Given the description of an element on the screen output the (x, y) to click on. 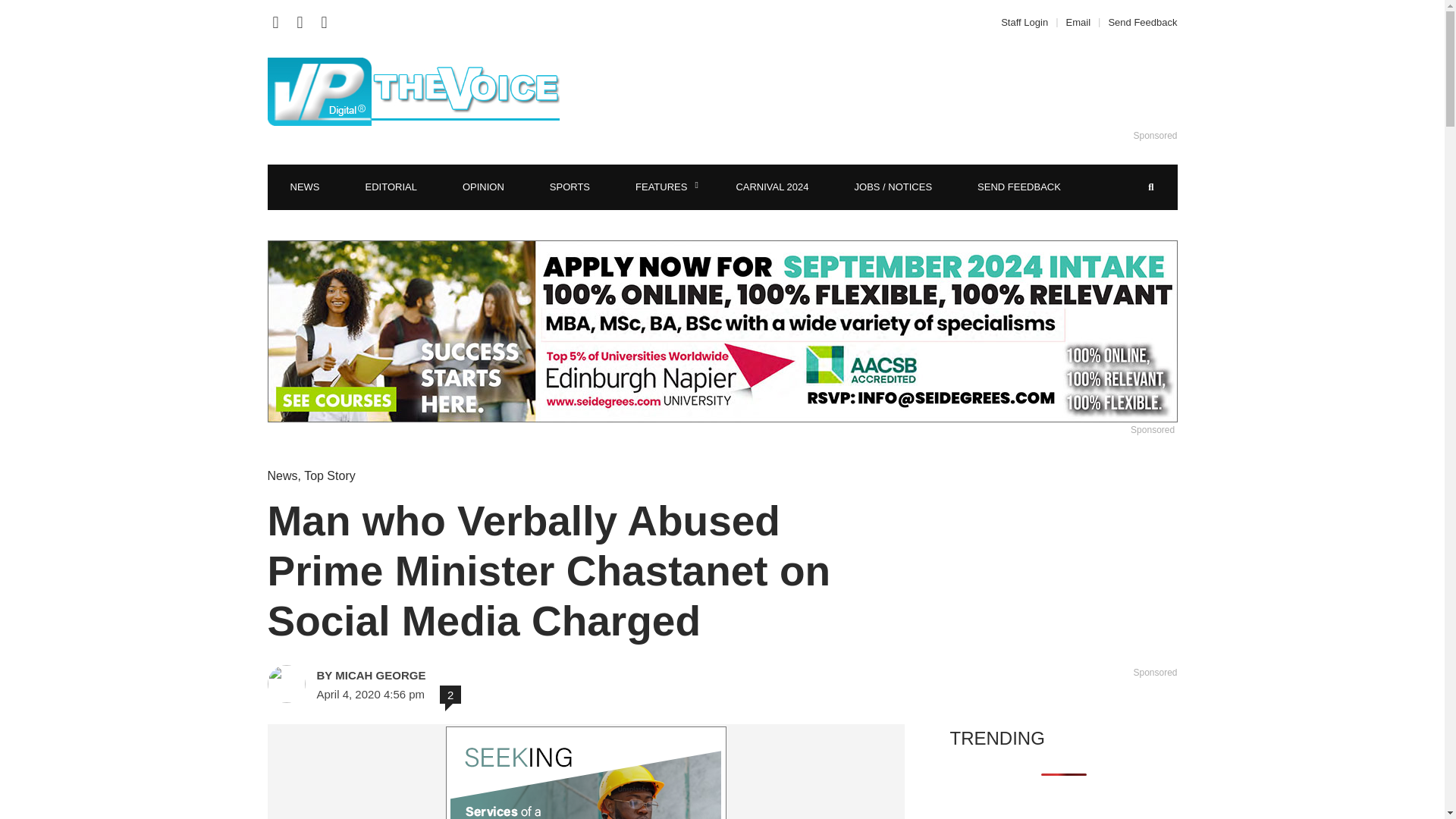
SEND FEEDBACK (1019, 186)
Top Story (329, 475)
News (281, 475)
Advertisement (906, 91)
View all posts by Micah George (422, 675)
MICAH GEORGE (422, 675)
Email (1078, 21)
Staff Login (1028, 21)
EDITORIAL (390, 186)
FEATURES (662, 186)
